Given the description of an element on the screen output the (x, y) to click on. 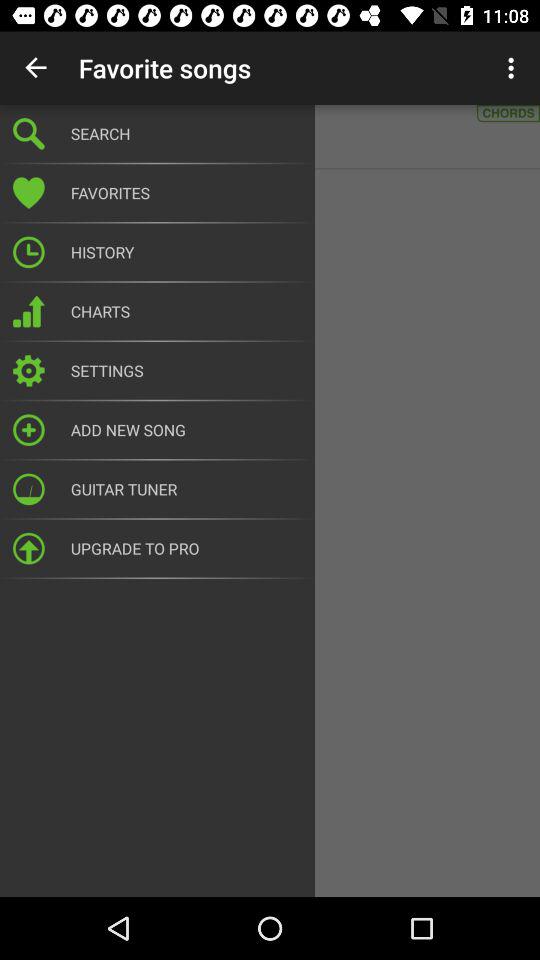
scroll to the favorites (185, 193)
